Given the description of an element on the screen output the (x, y) to click on. 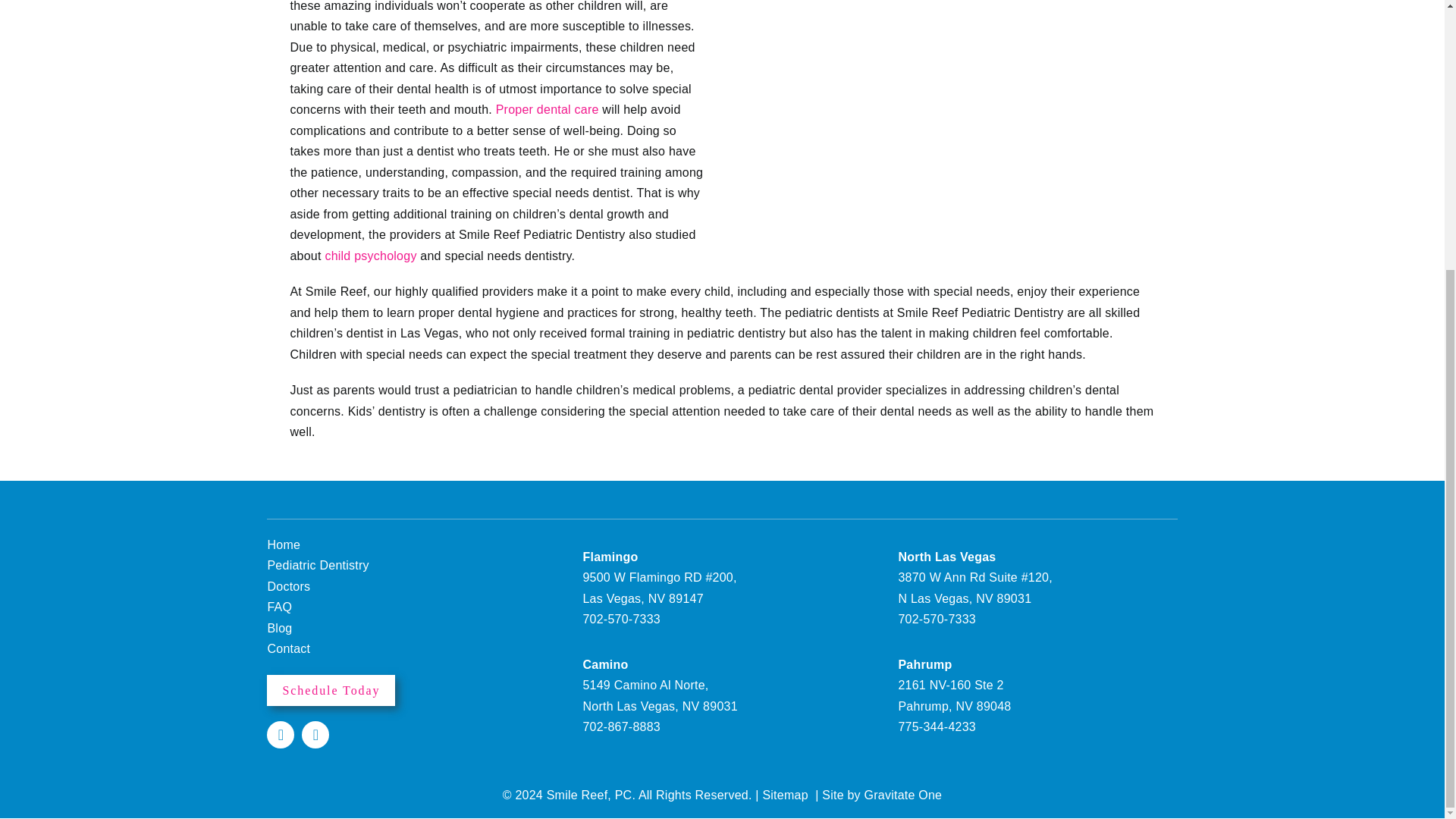
X (315, 734)
Dental Care (547, 109)
child psychology (370, 255)
flamingo-exam-5 (946, 104)
Facebook (280, 734)
